Given the description of an element on the screen output the (x, y) to click on. 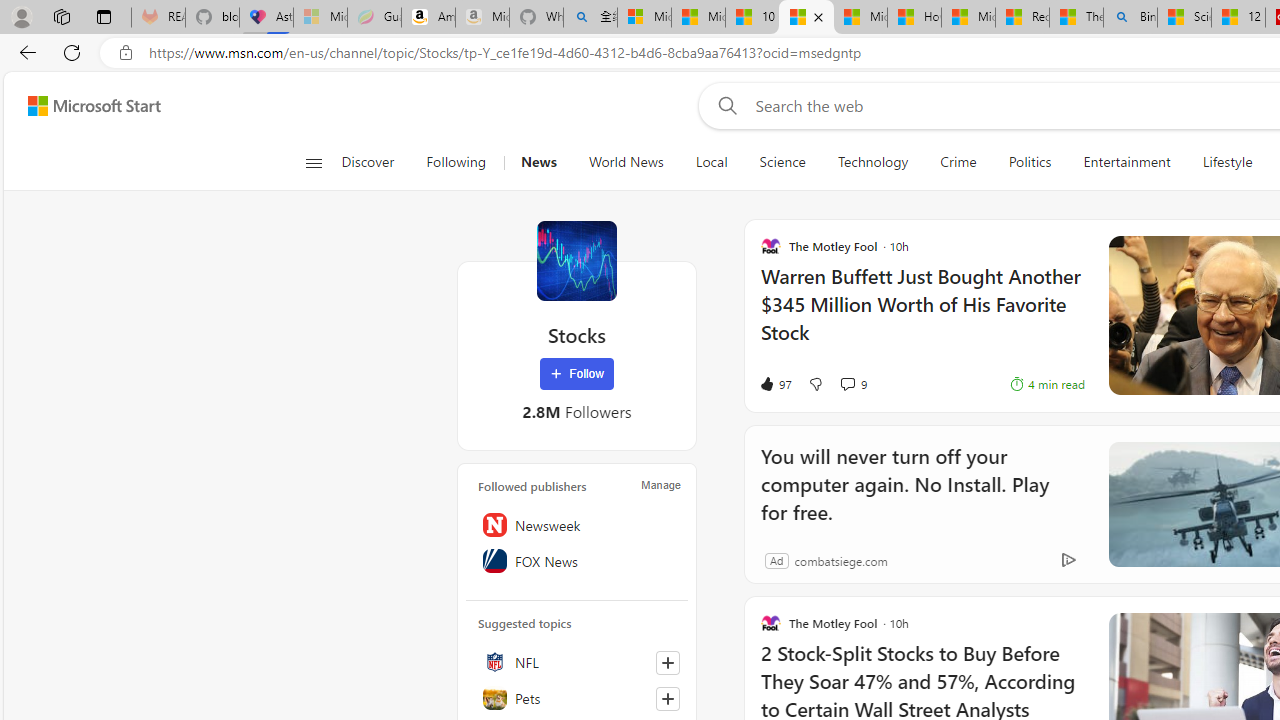
Newsweek (577, 525)
View comments 9 Comment (847, 383)
Stocks (576, 260)
12 Popular Science Lies that Must be Corrected (1238, 17)
Pets (577, 697)
Follow this topic (667, 698)
Recipes - MSN (1022, 17)
World News (625, 162)
97 Like (775, 384)
